Given the description of an element on the screen output the (x, y) to click on. 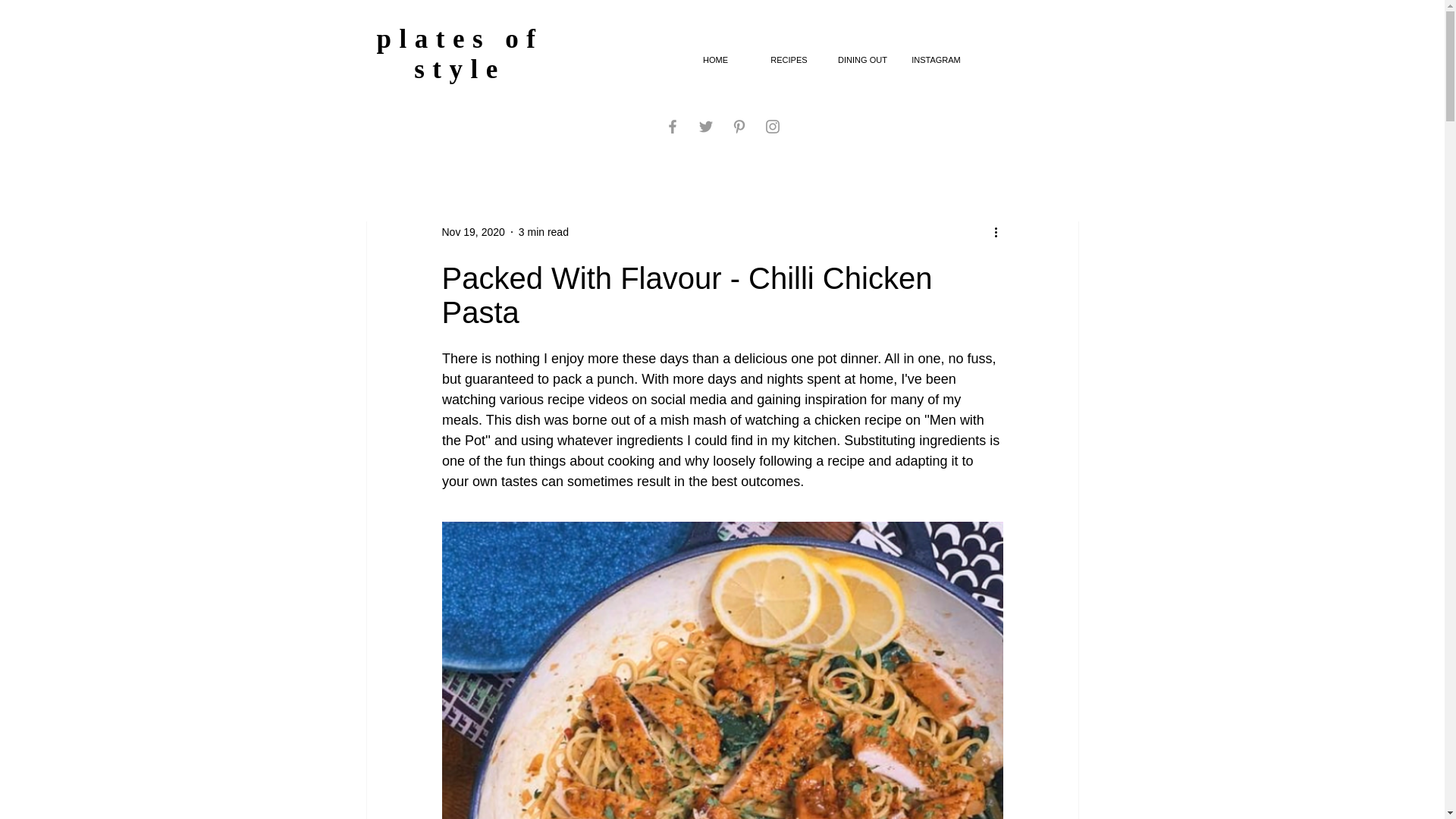
Nov 19, 2020 (472, 232)
plates of style (460, 54)
INSTAGRAM (935, 60)
HOME (715, 60)
3 min read (543, 232)
DINING OUT (862, 60)
RECIPES (788, 60)
